Given the description of an element on the screen output the (x, y) to click on. 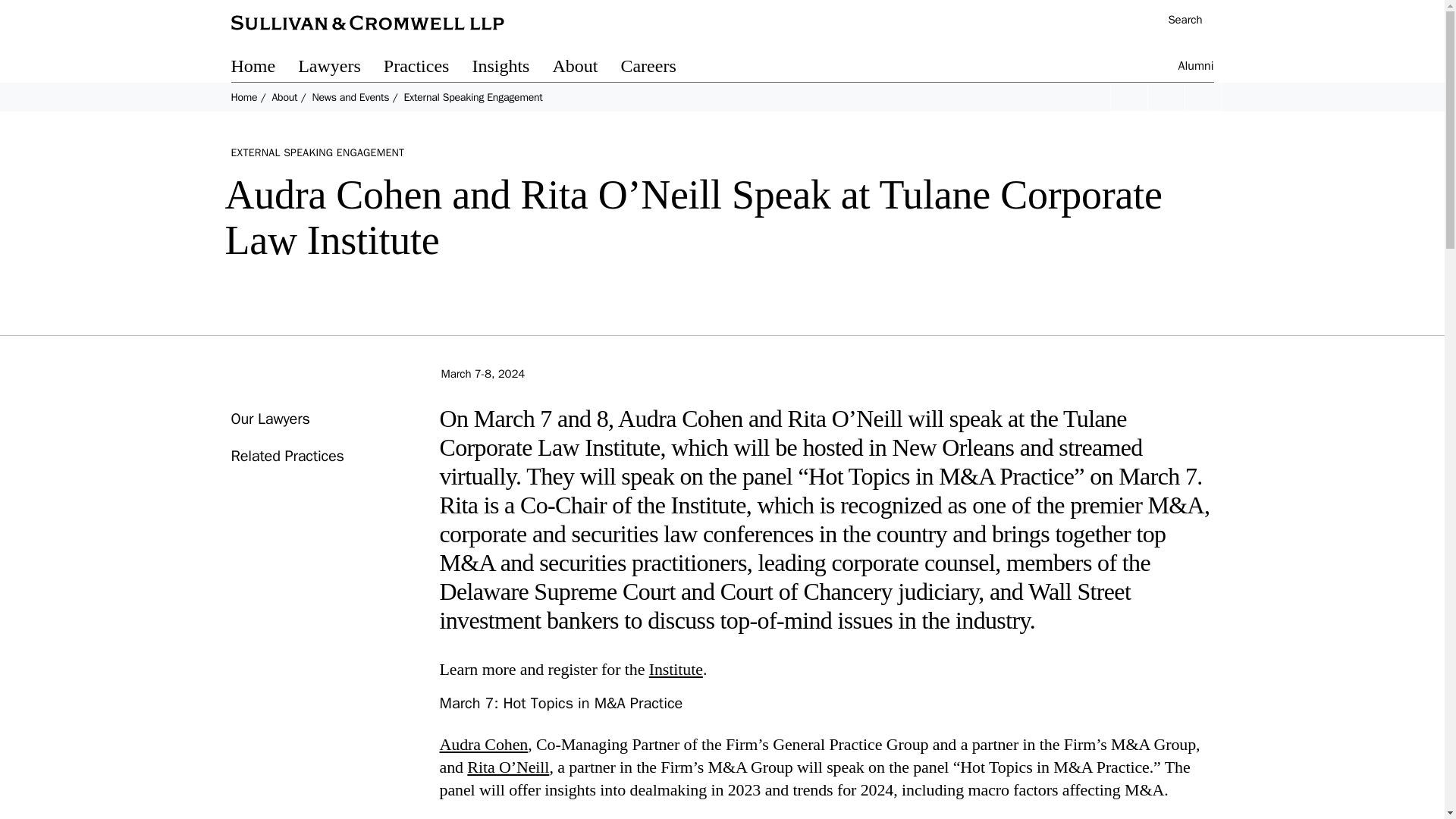
Careers (659, 67)
Search (1176, 20)
Audra Cohen (483, 743)
Related Practices (286, 456)
Our Lawyers (269, 418)
Insights (511, 67)
Alumni (1195, 67)
Home (264, 67)
About (585, 67)
About (283, 97)
